Given the description of an element on the screen output the (x, y) to click on. 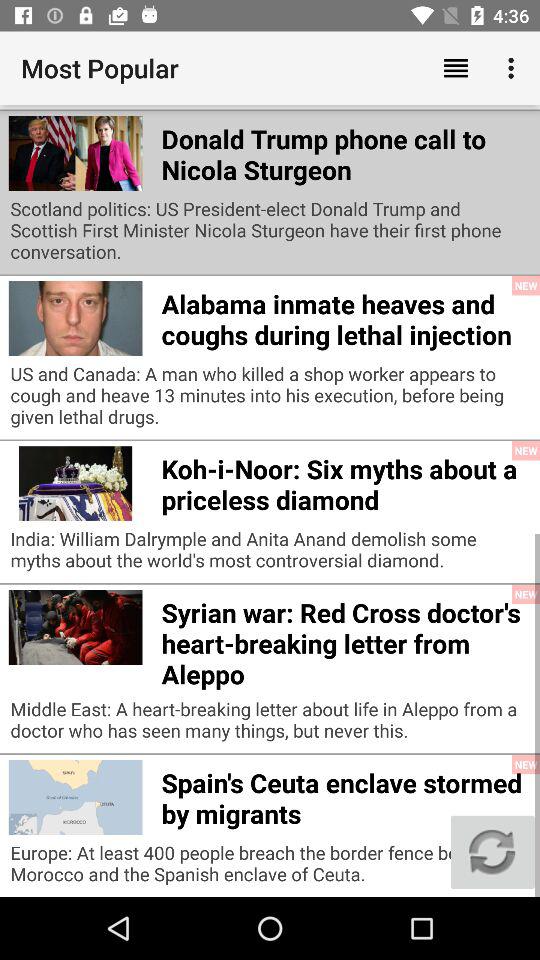
jump to the koh i noor icon (345, 481)
